Given the description of an element on the screen output the (x, y) to click on. 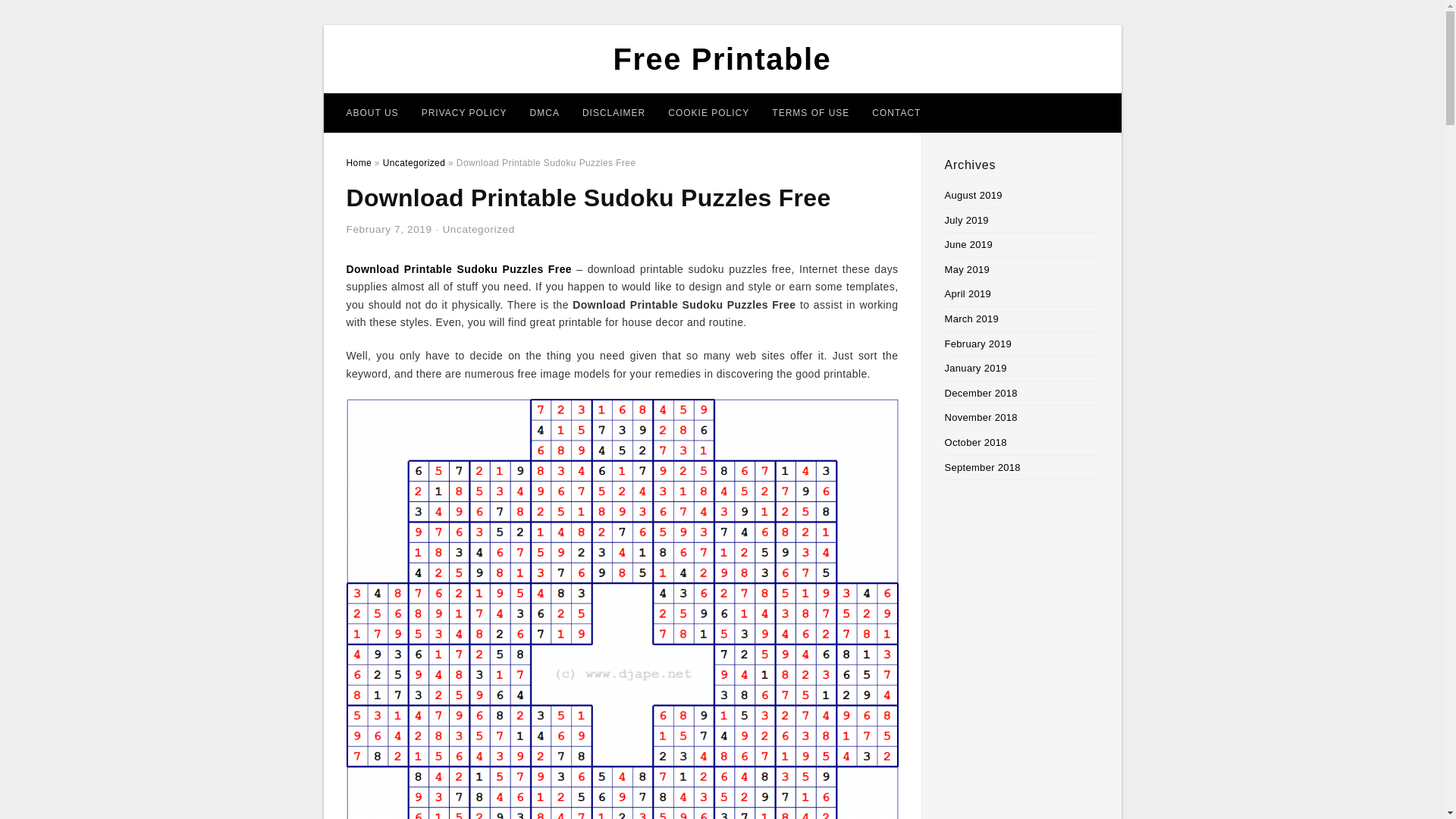
Free Printable (721, 59)
Uncategorized (477, 229)
June 2019 (968, 244)
DISCLAIMER (613, 112)
Download Printable Sudoku Puzzles Free (459, 268)
May 2019 (967, 269)
COOKIE POLICY (708, 112)
ABOUT US (372, 112)
CONTACT (895, 112)
Uncategorized (413, 163)
